Given the description of an element on the screen output the (x, y) to click on. 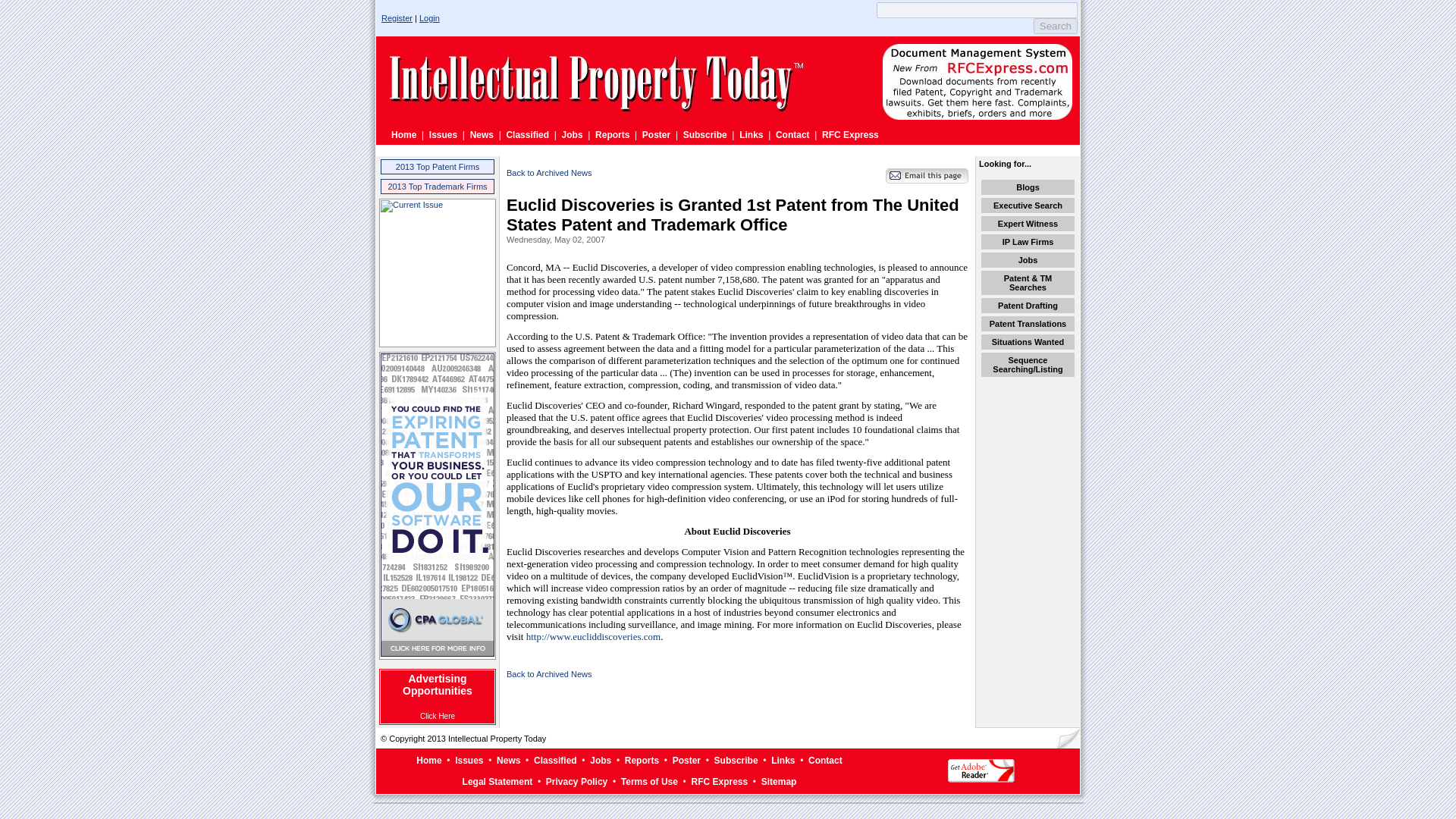
Click Here (437, 715)
Jobs (600, 760)
Back to Archived News (549, 172)
Register (396, 17)
Patent Drafting (1027, 305)
Search (1055, 26)
RFC Express (850, 134)
Subscribe (704, 134)
Situations Wanted (1027, 341)
Home (403, 134)
Home (428, 760)
Classified (555, 760)
News (481, 134)
Patent Translations (1027, 323)
Jobs (572, 134)
